Given the description of an element on the screen output the (x, y) to click on. 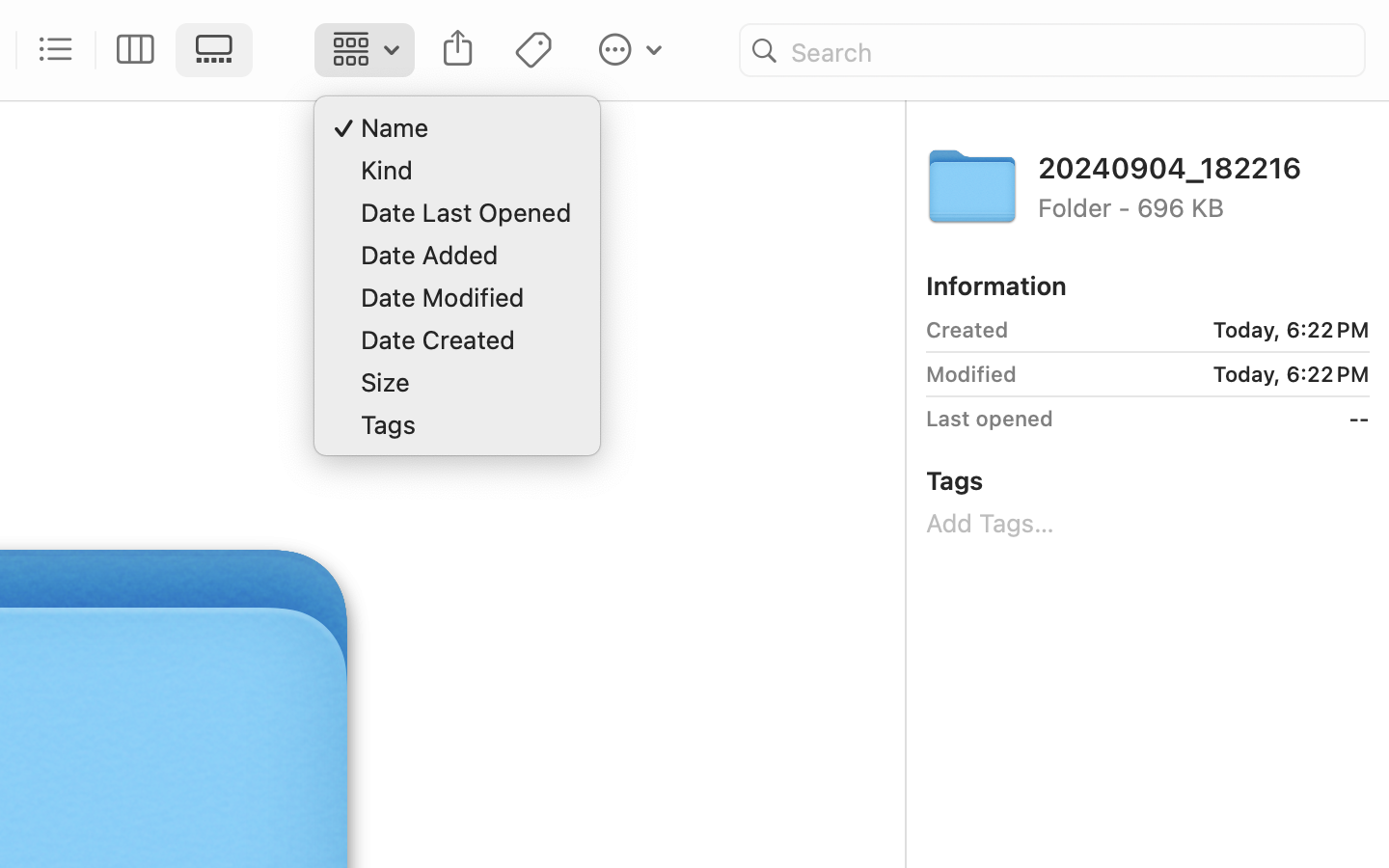
Information Element type: AXStaticText (996, 285)
